Given the description of an element on the screen output the (x, y) to click on. 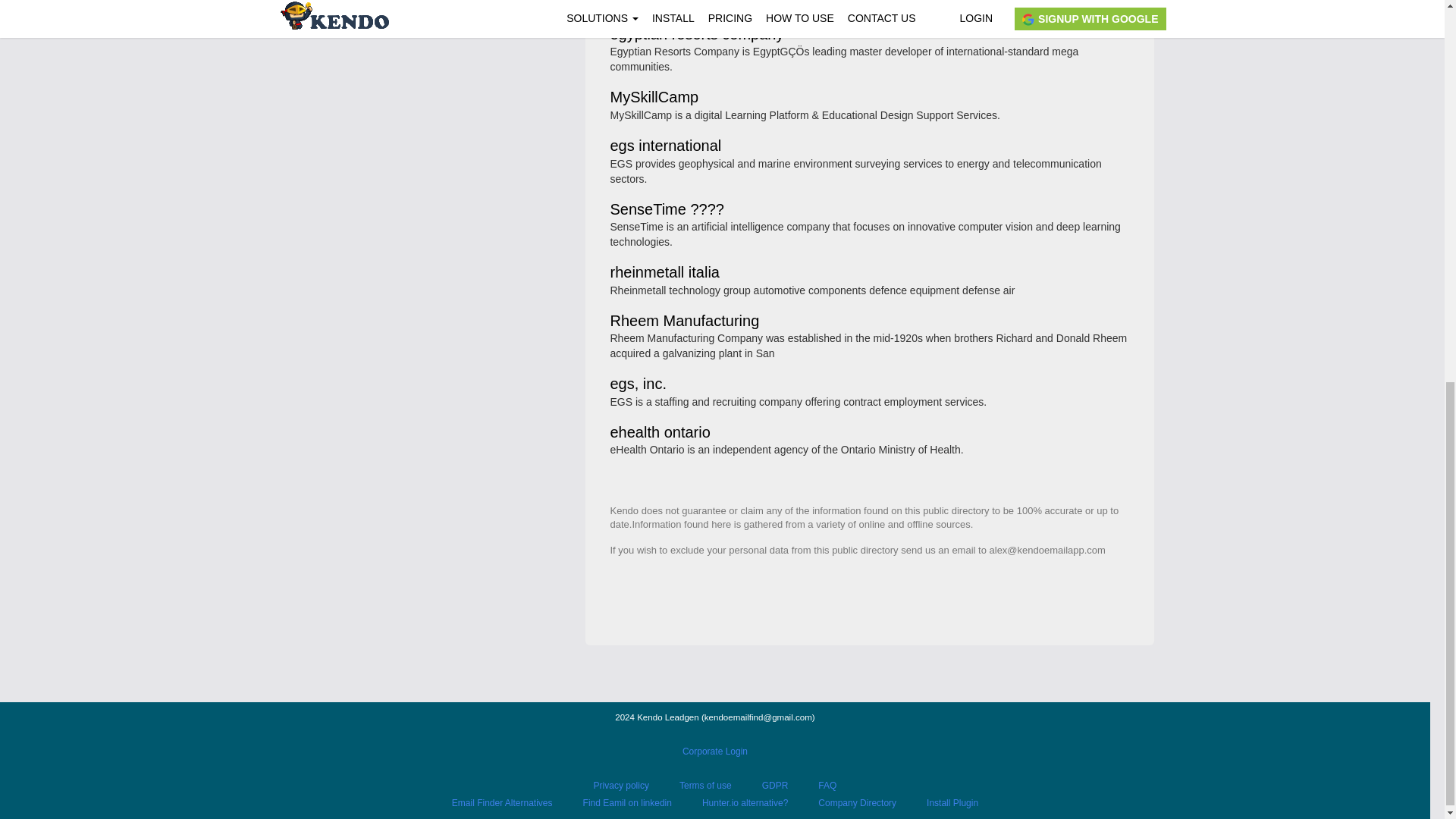
rheinmetall italia (664, 273)
egs, inc. (637, 384)
Rheem Manufacturing (684, 321)
ehealth ontario (660, 432)
egyptian resorts company (696, 34)
egs international (665, 146)
MySkillCamp (654, 97)
SenseTime ???? (666, 210)
